Given the description of an element on the screen output the (x, y) to click on. 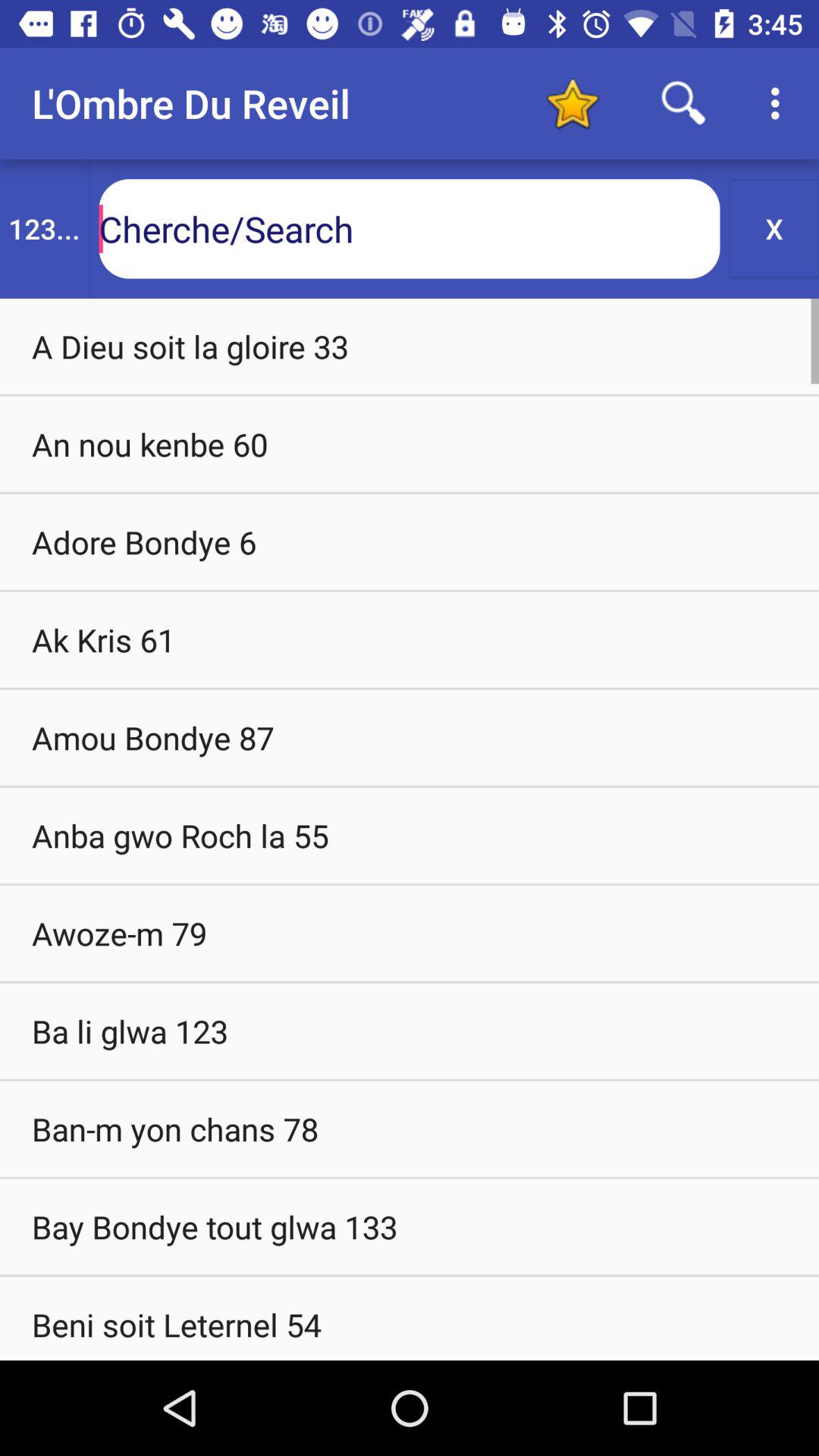
choose the icon below anba gwo roch (409, 933)
